Given the description of an element on the screen output the (x, y) to click on. 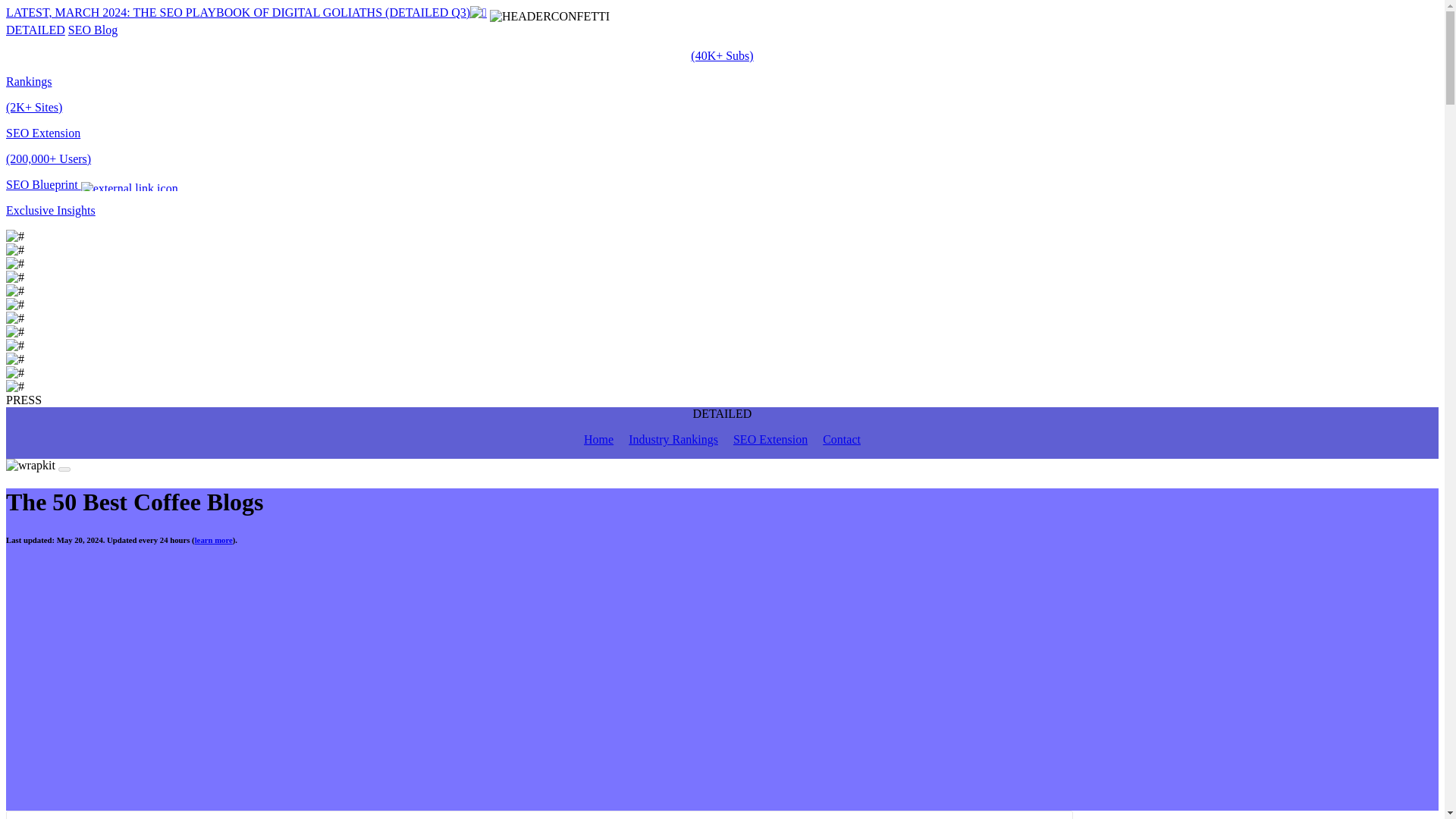
Home (597, 439)
learn more (213, 539)
SEO Extension (770, 439)
Industry Rankings (672, 439)
DETAILED (35, 29)
Contact (841, 439)
